Given the description of an element on the screen output the (x, y) to click on. 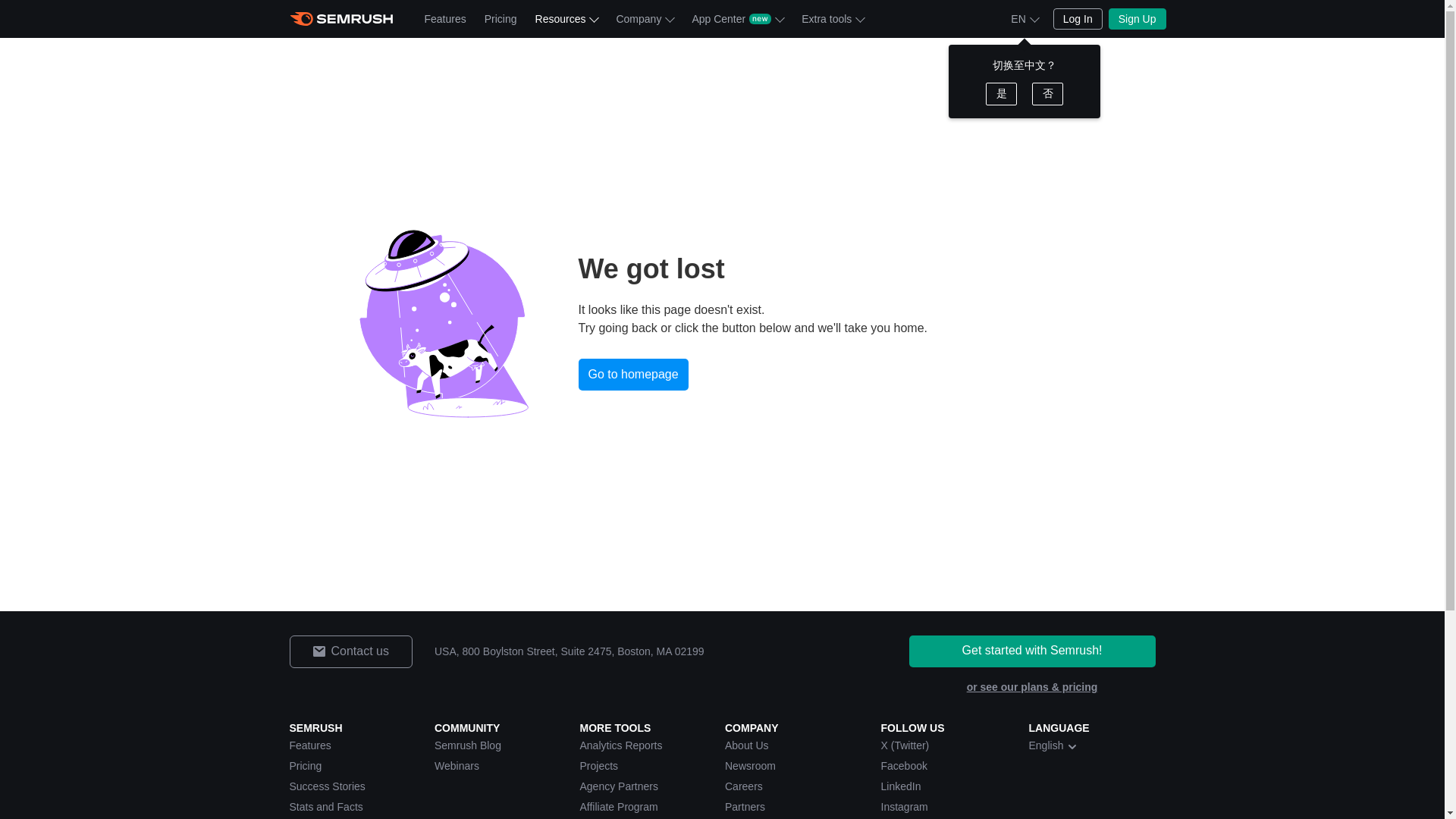
Company (644, 18)
Extra tools (832, 18)
Pricing (500, 18)
App Center (737, 18)
Resources (566, 18)
Features (445, 18)
